Given the description of an element on the screen output the (x, y) to click on. 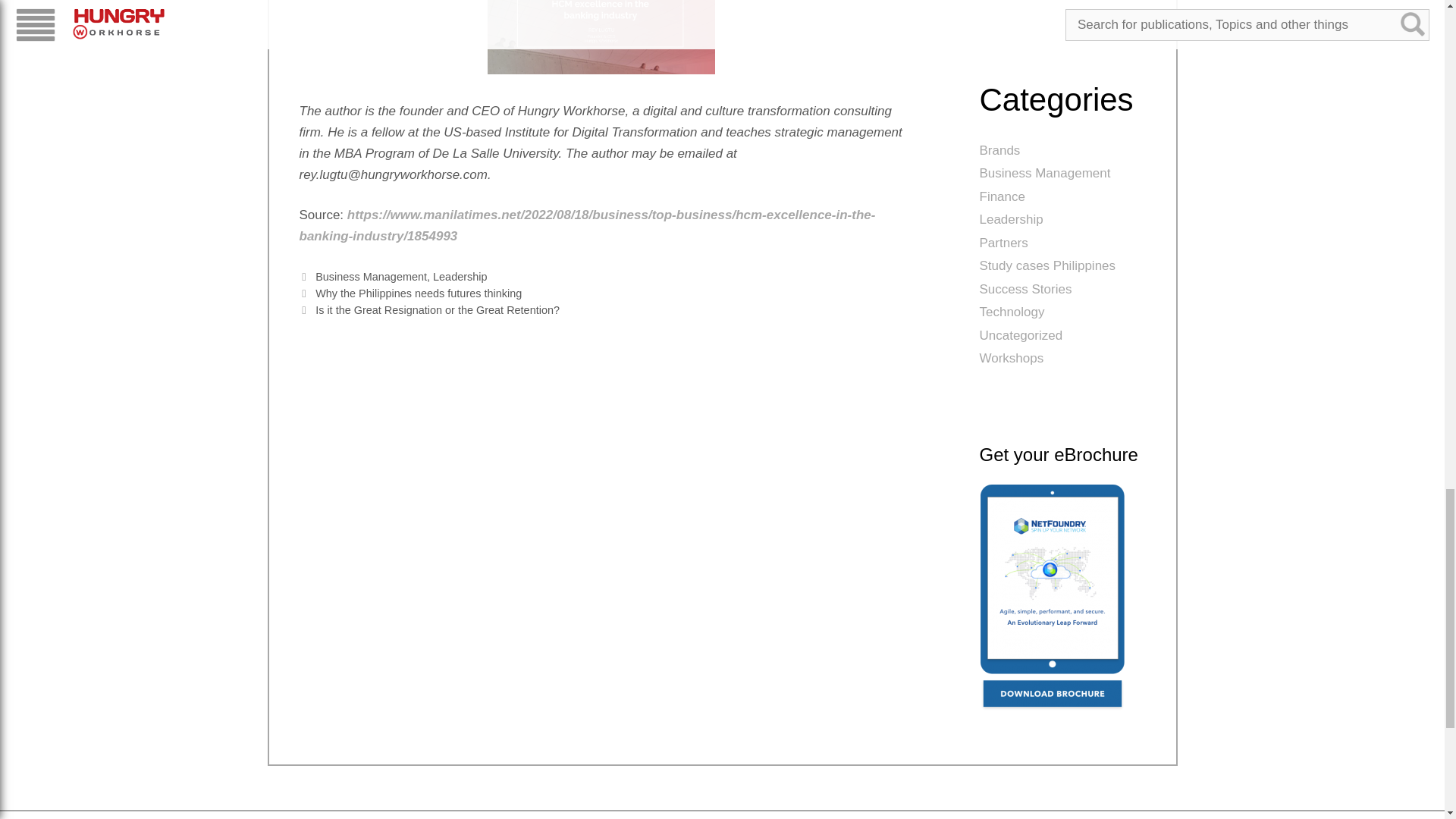
Why the Philippines needs futures thinking (418, 293)
Is it the Great Resignation or the Great Retention? (437, 309)
Leadership (459, 276)
Business Management (370, 276)
